Given the description of an element on the screen output the (x, y) to click on. 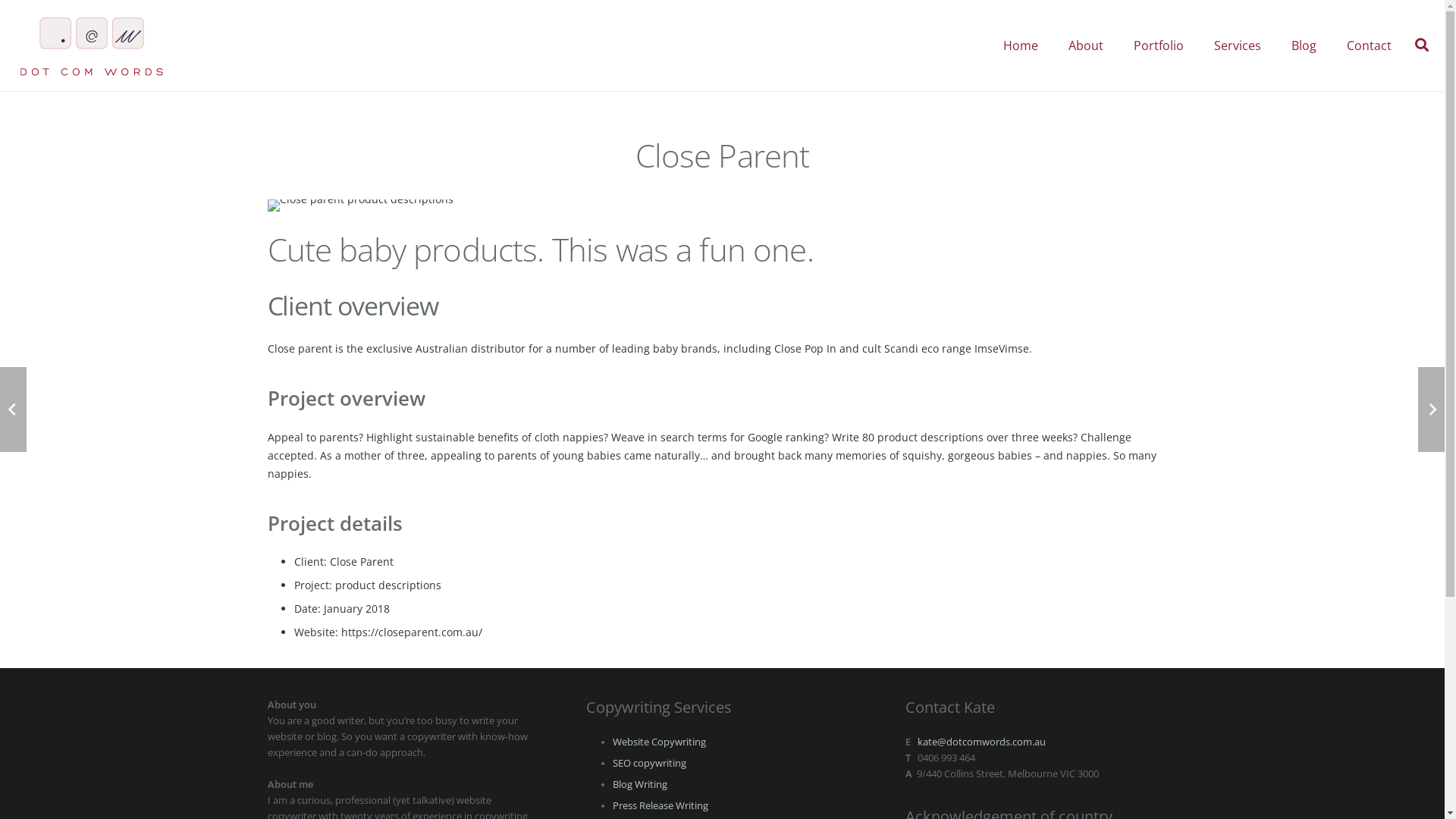
Search Element type: hover (1421, 44)
Home Element type: text (1020, 45)
kate@dotcomwords.com.au Element type: text (981, 741)
Blog Writing Element type: text (639, 784)
Blog Element type: text (1303, 45)
Portfolio Element type: text (1158, 45)
SEO copywriting Element type: text (649, 762)
Contact Element type: text (1368, 45)
Press Release Writing Element type: text (660, 805)
Services Element type: text (1237, 45)
Website Copywriting Element type: text (659, 741)
About Element type: text (1085, 45)
